Given the description of an element on the screen output the (x, y) to click on. 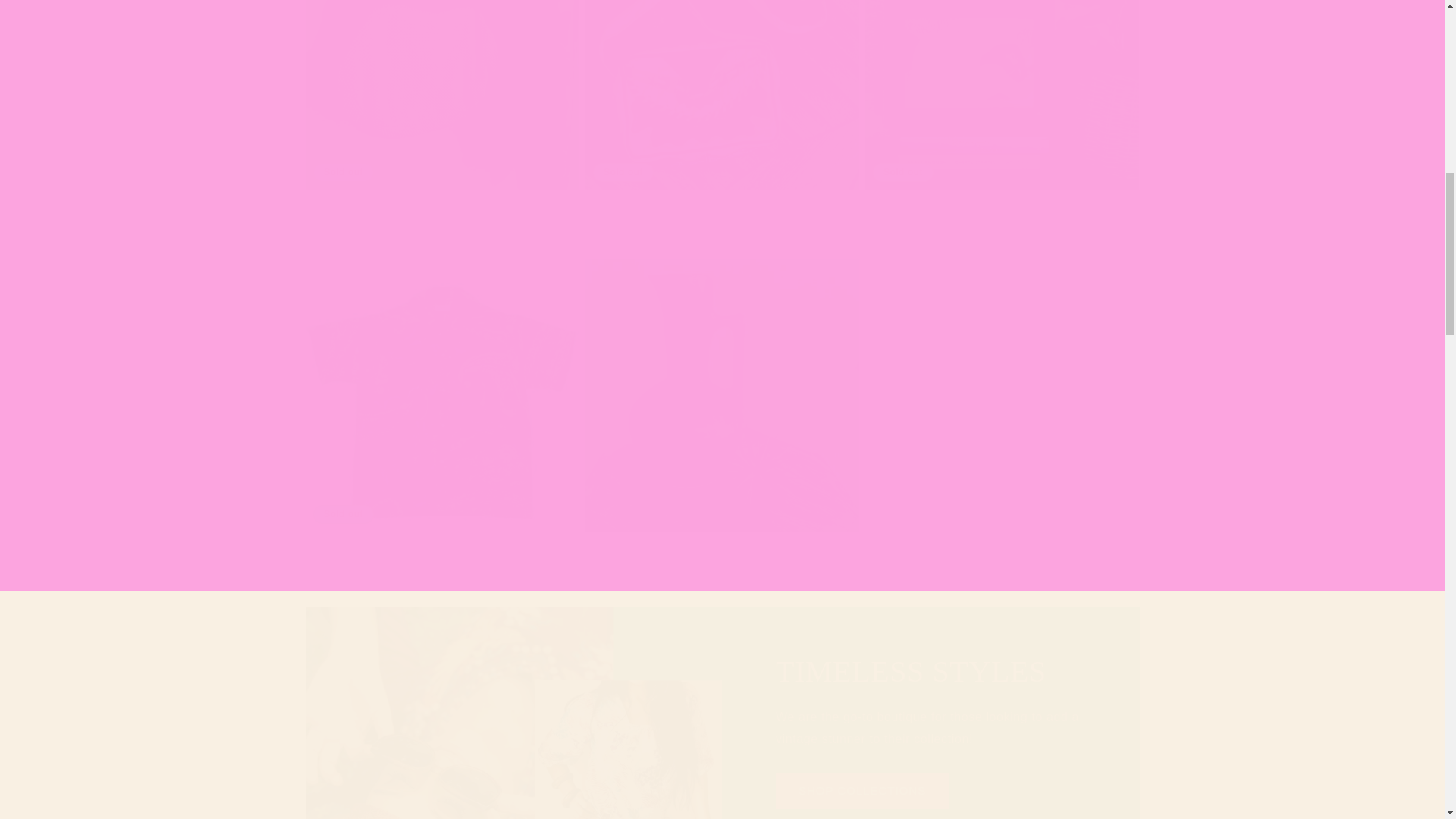
Headed Out Beaded Bakelite Vintage Bag (441, 209)
Pegge Hopper Print Framed in Vintage Wooden Frame (1001, 209)
Multicolored Abstract Leather Vintage Purse with Stitching (722, 209)
